Given the description of an element on the screen output the (x, y) to click on. 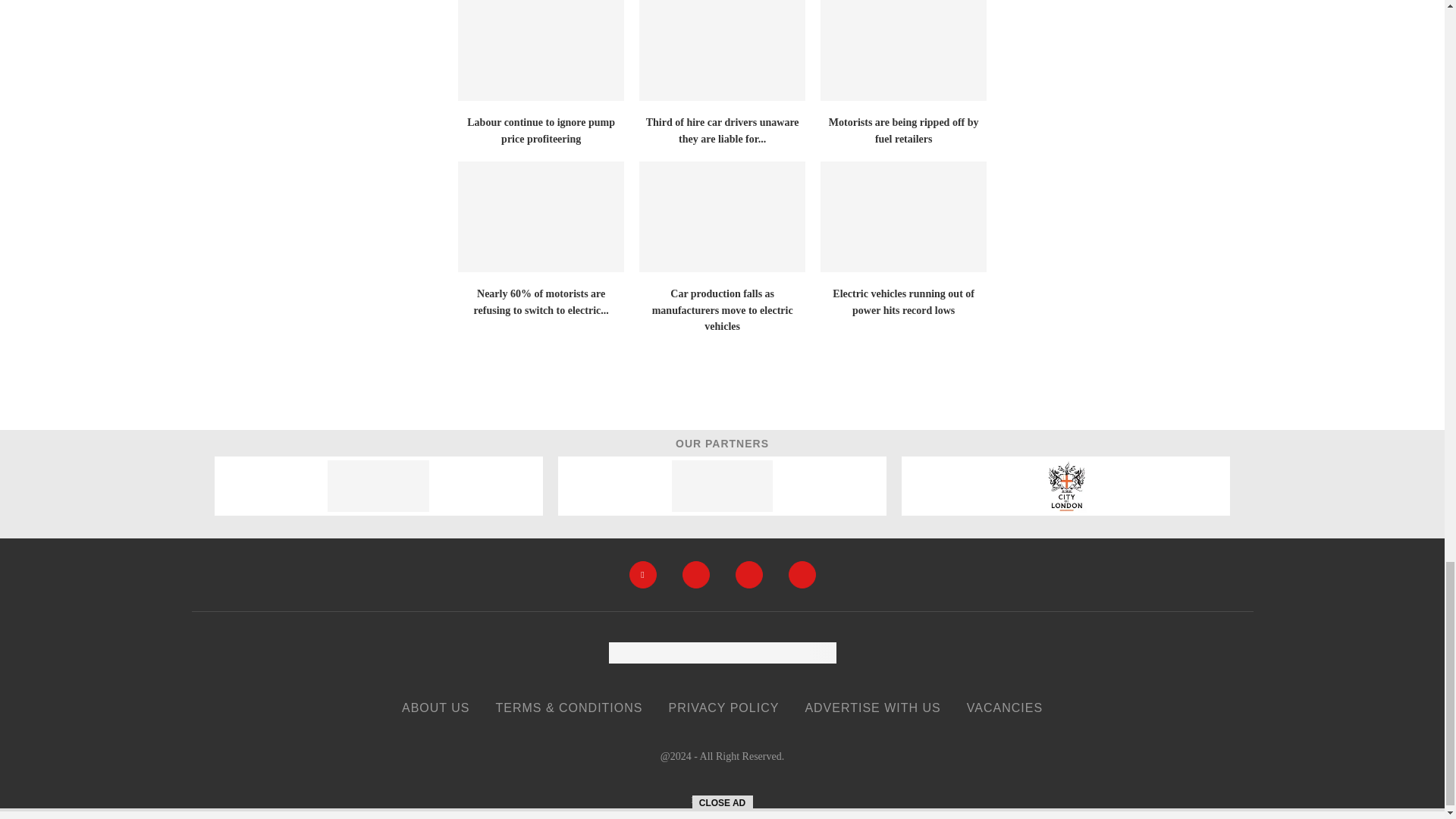
Labour continue to ignore pump price profiteering (541, 50)
Motorists are being ripped off by fuel retailers (904, 50)
Electric vehicles running out of power hits record lows (904, 216)
